Given the description of an element on the screen output the (x, y) to click on. 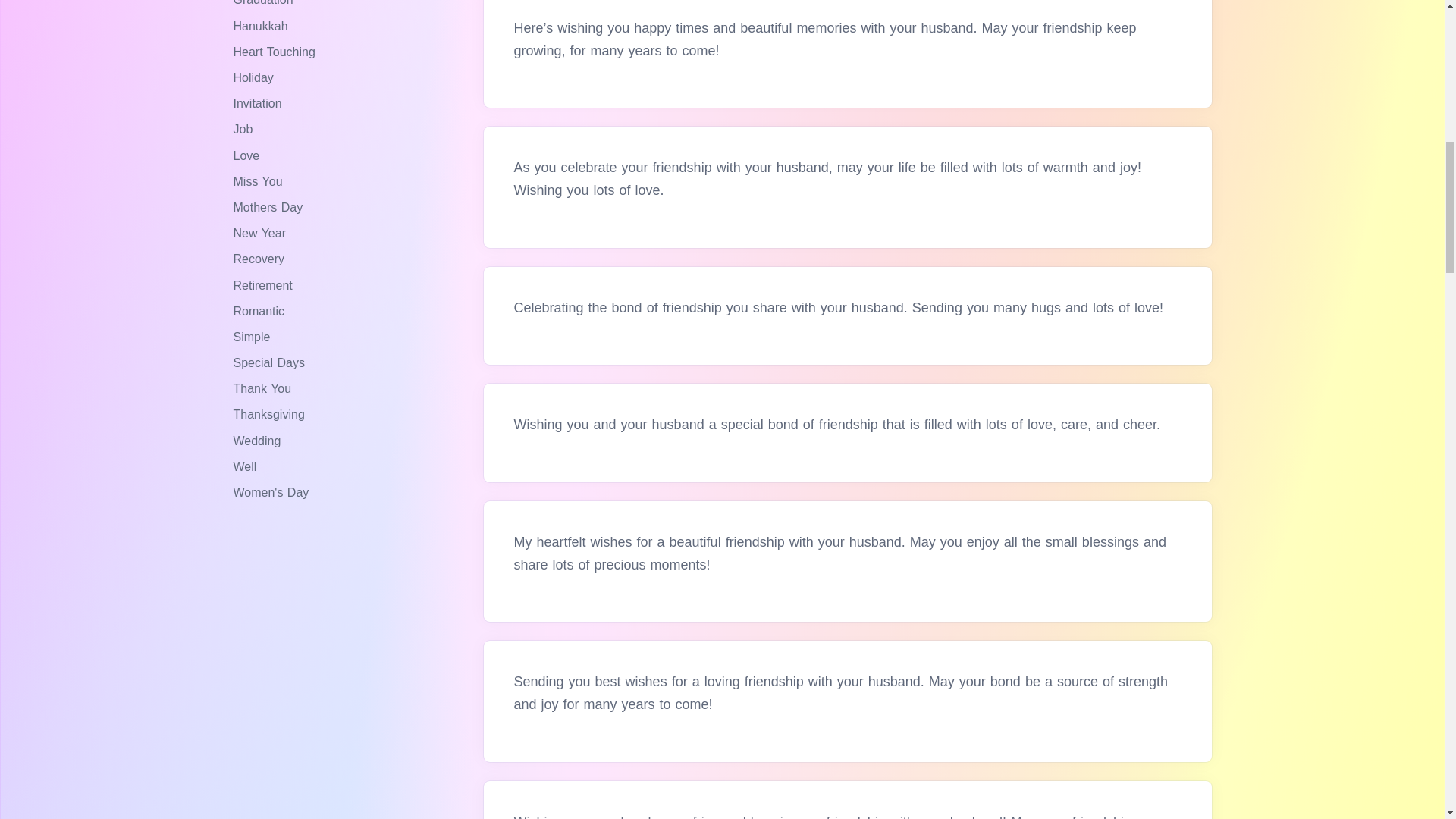
New Year (260, 232)
Miss You (259, 181)
Job (244, 128)
Holiday (255, 77)
Graduation (264, 2)
Retirement (264, 285)
Hanukkah (262, 25)
Invitation (258, 103)
Recovery (260, 258)
Love (247, 155)
Mothers Day (269, 206)
Romantic (260, 310)
Heart Touching (275, 51)
